Given the description of an element on the screen output the (x, y) to click on. 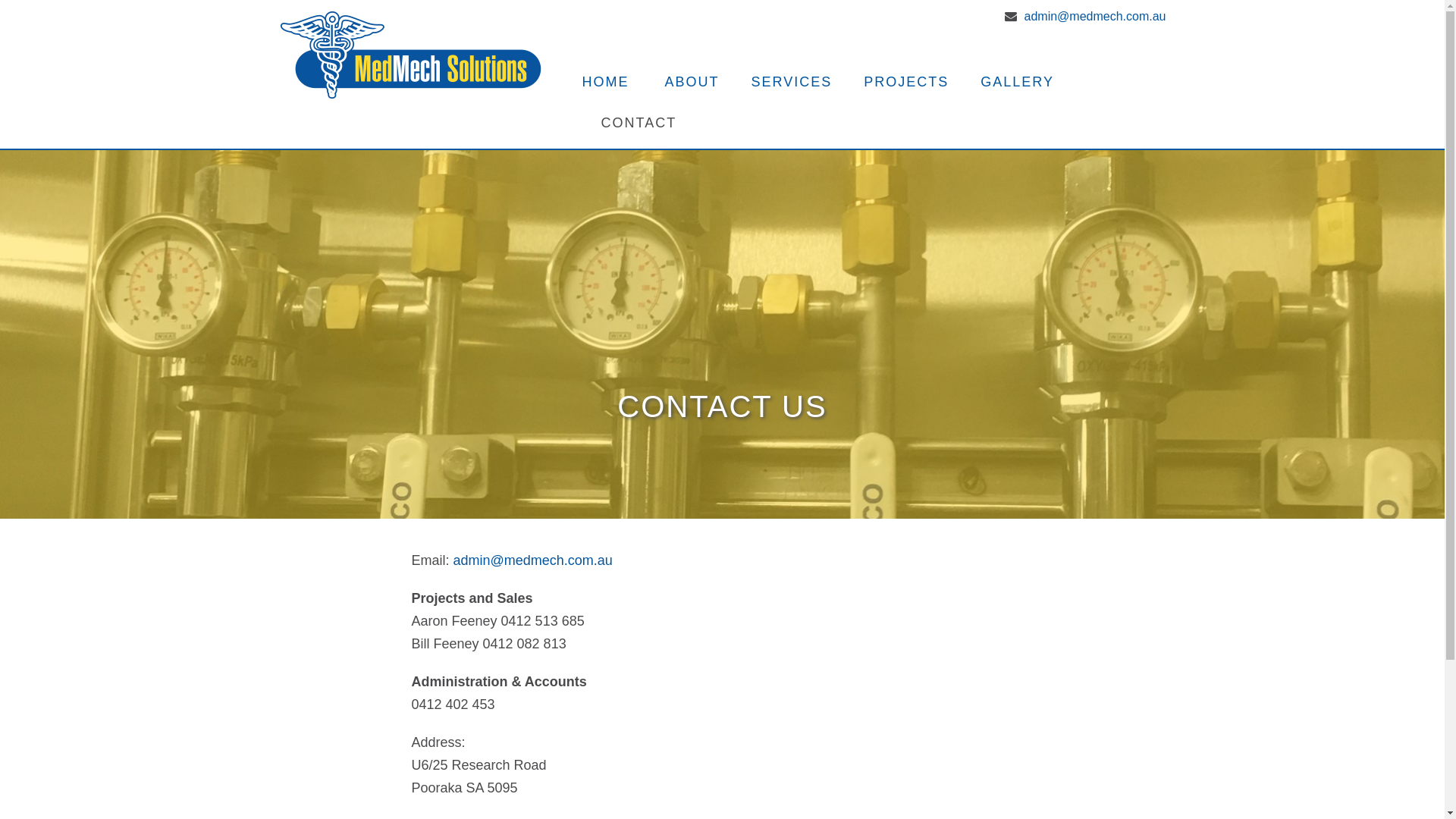
GALLERY Element type: text (1017, 81)
admin@medmech.com.au Element type: text (1095, 15)
admin@medmech.com.au Element type: text (532, 559)
PROJECTS Element type: text (905, 81)
HOME Element type: text (615, 81)
ABOUT Element type: text (691, 81)
SERVICES Element type: text (791, 81)
CONTACT Element type: text (629, 118)
